Given the description of an element on the screen output the (x, y) to click on. 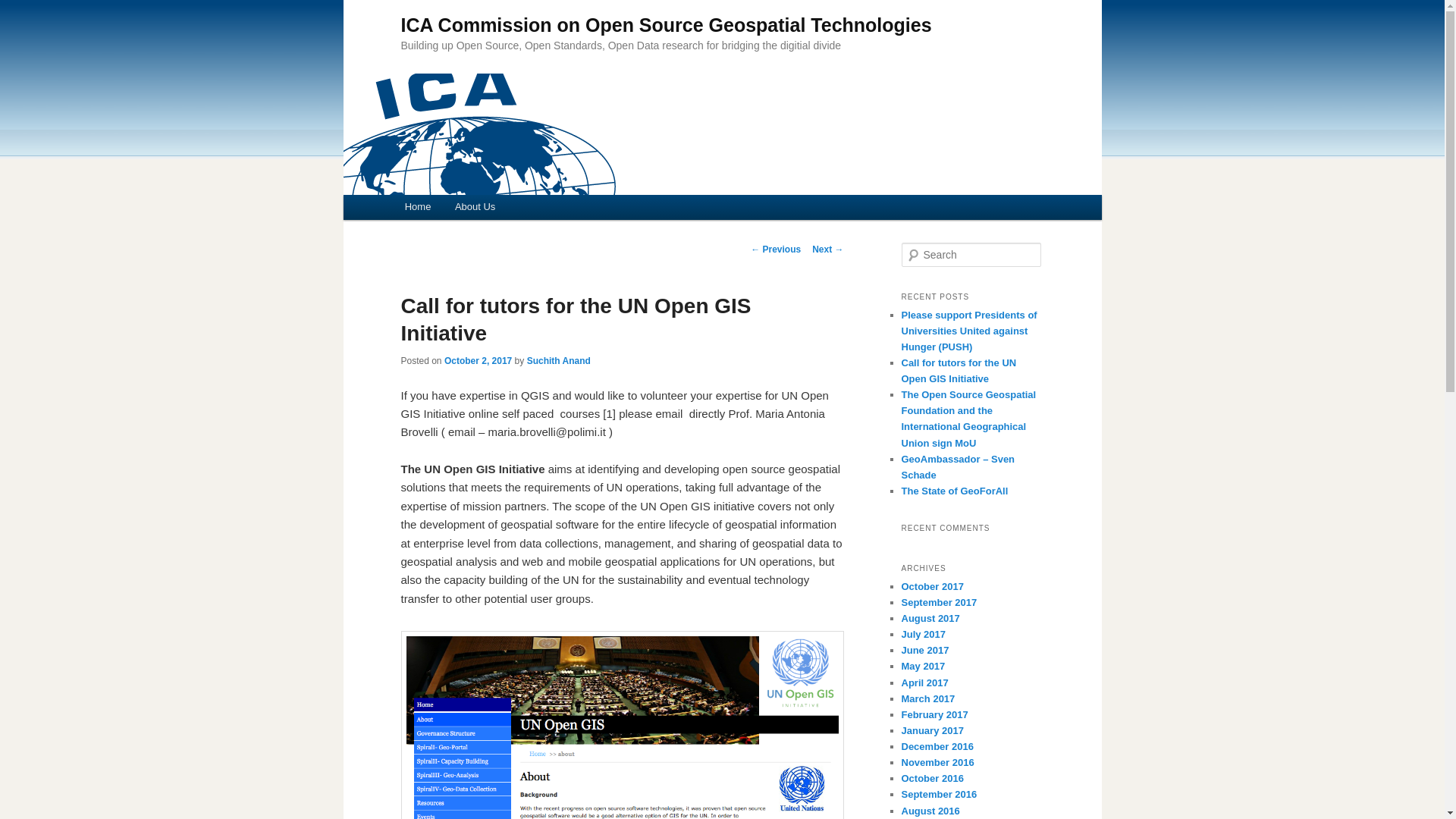
5:45 pm (478, 360)
September 2016 (938, 794)
About Us (474, 207)
October 2016 (931, 778)
May 2017 (922, 665)
October 2, 2017 (478, 360)
October 2017 (931, 586)
April 2017 (924, 682)
September 2017 (938, 602)
November 2016 (937, 762)
